Given the description of an element on the screen output the (x, y) to click on. 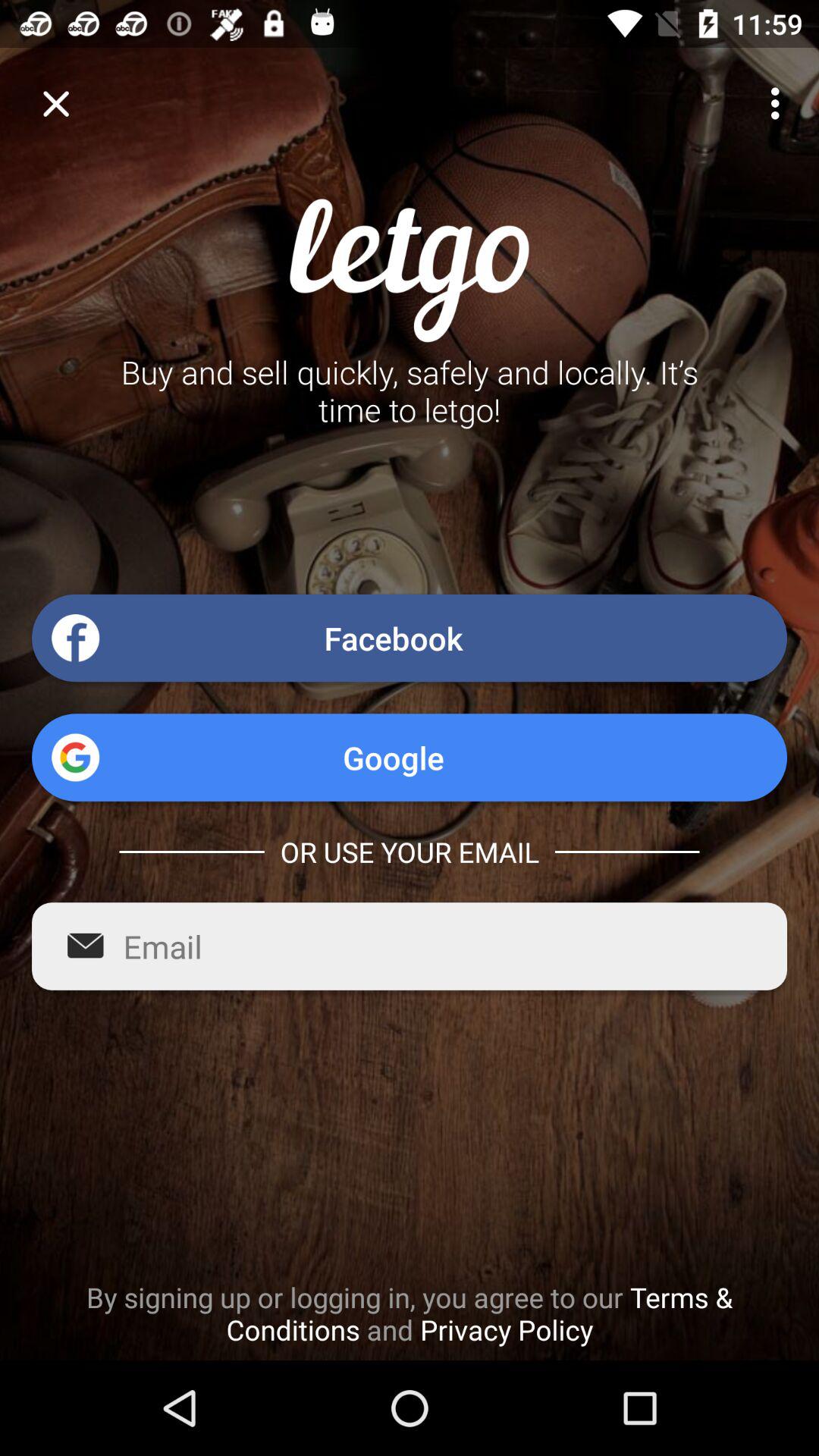
tap item below the facebook icon (409, 757)
